Given the description of an element on the screen output the (x, y) to click on. 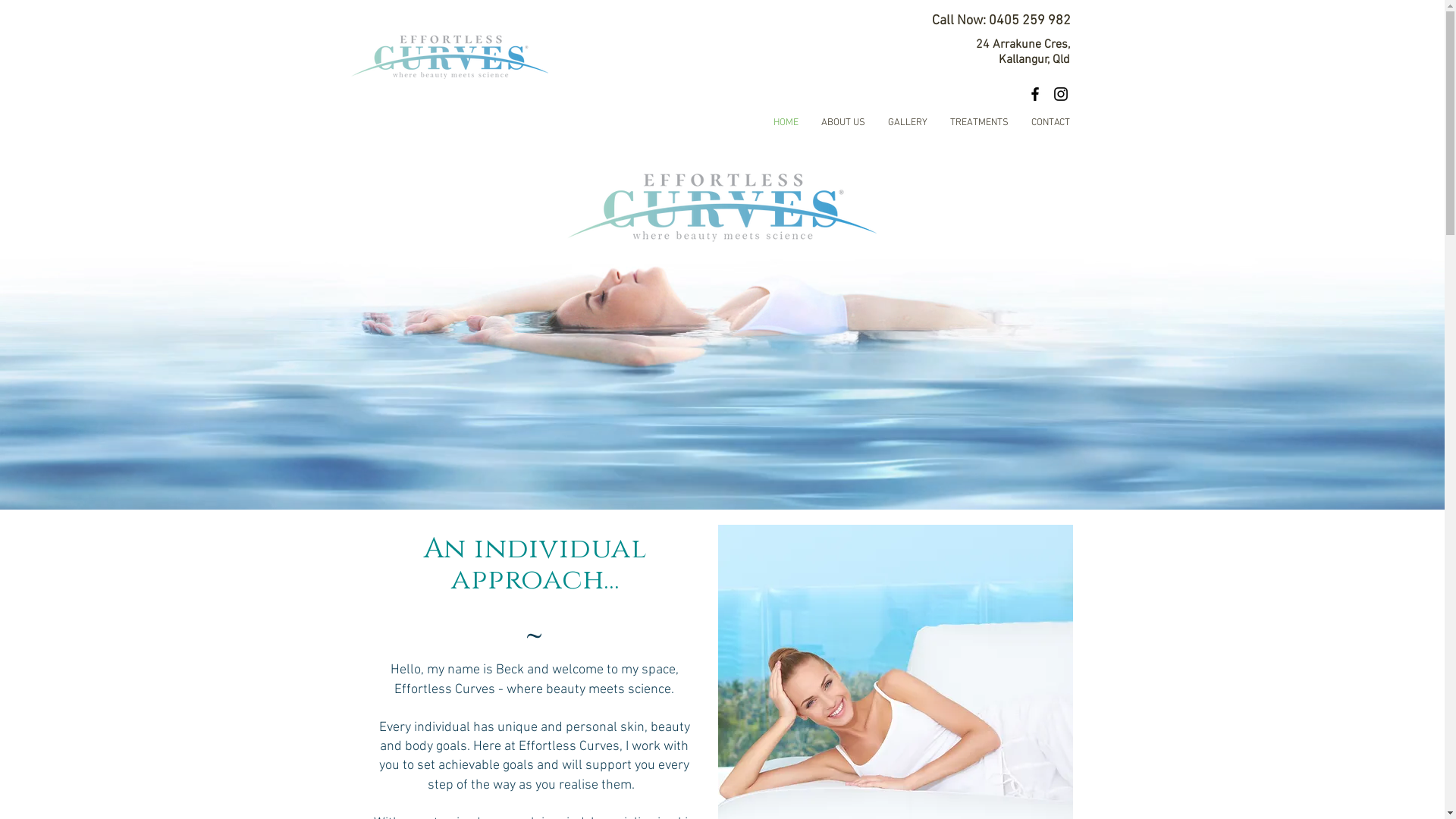
TREATMENTS Element type: text (978, 122)
CONTACT Element type: text (1049, 122)
HOME Element type: text (785, 122)
ABOUT US Element type: text (842, 122)
GALLERY Element type: text (907, 122)
